Given the description of an element on the screen output the (x, y) to click on. 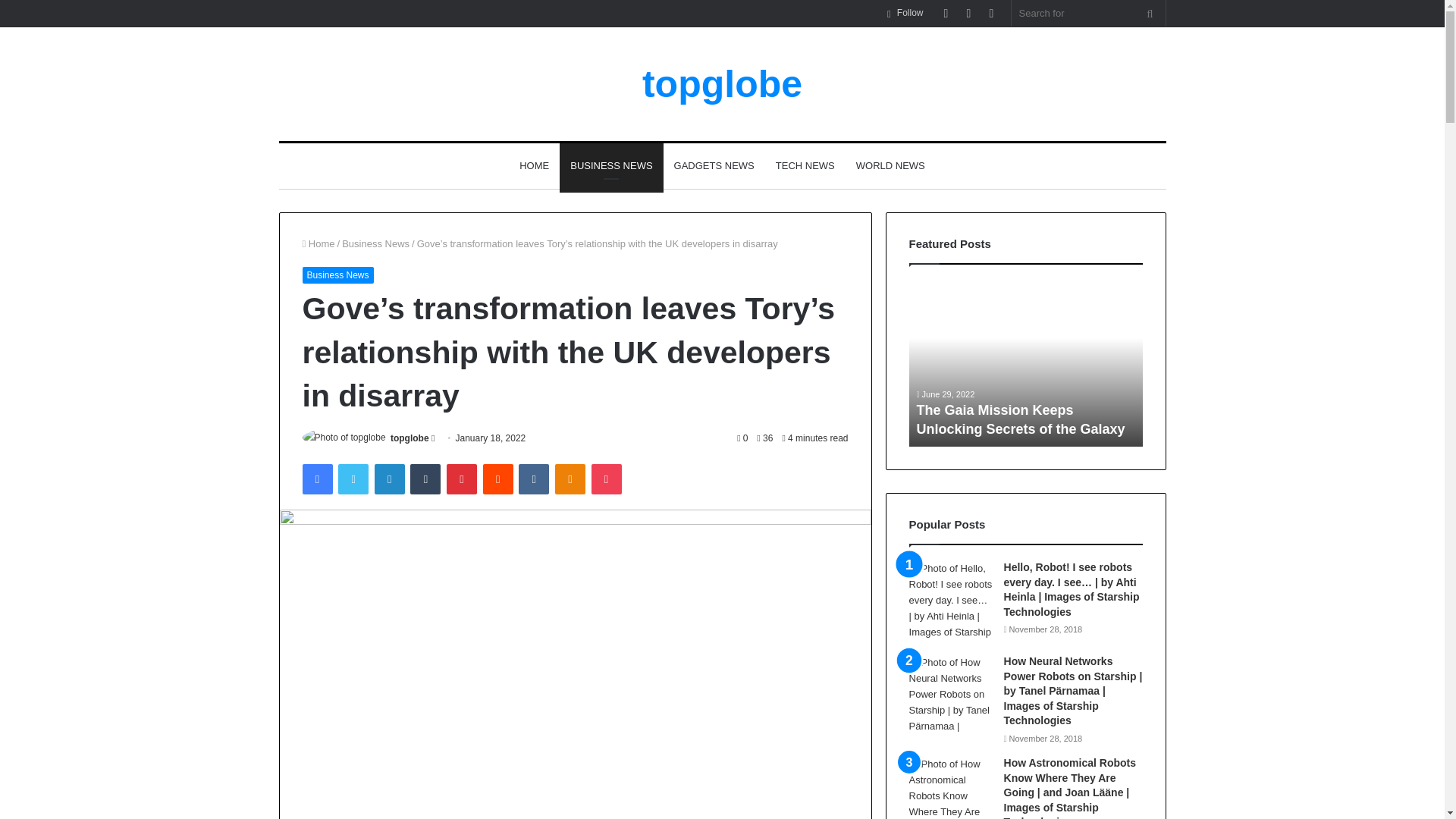
Odnoklassniki (569, 479)
LinkedIn (389, 479)
Reddit (498, 479)
Twitter (352, 479)
Search for (1149, 13)
Pocket (606, 479)
topglobe (722, 84)
Search for (1088, 13)
Facebook (316, 479)
Home (317, 243)
